Given the description of an element on the screen output the (x, y) to click on. 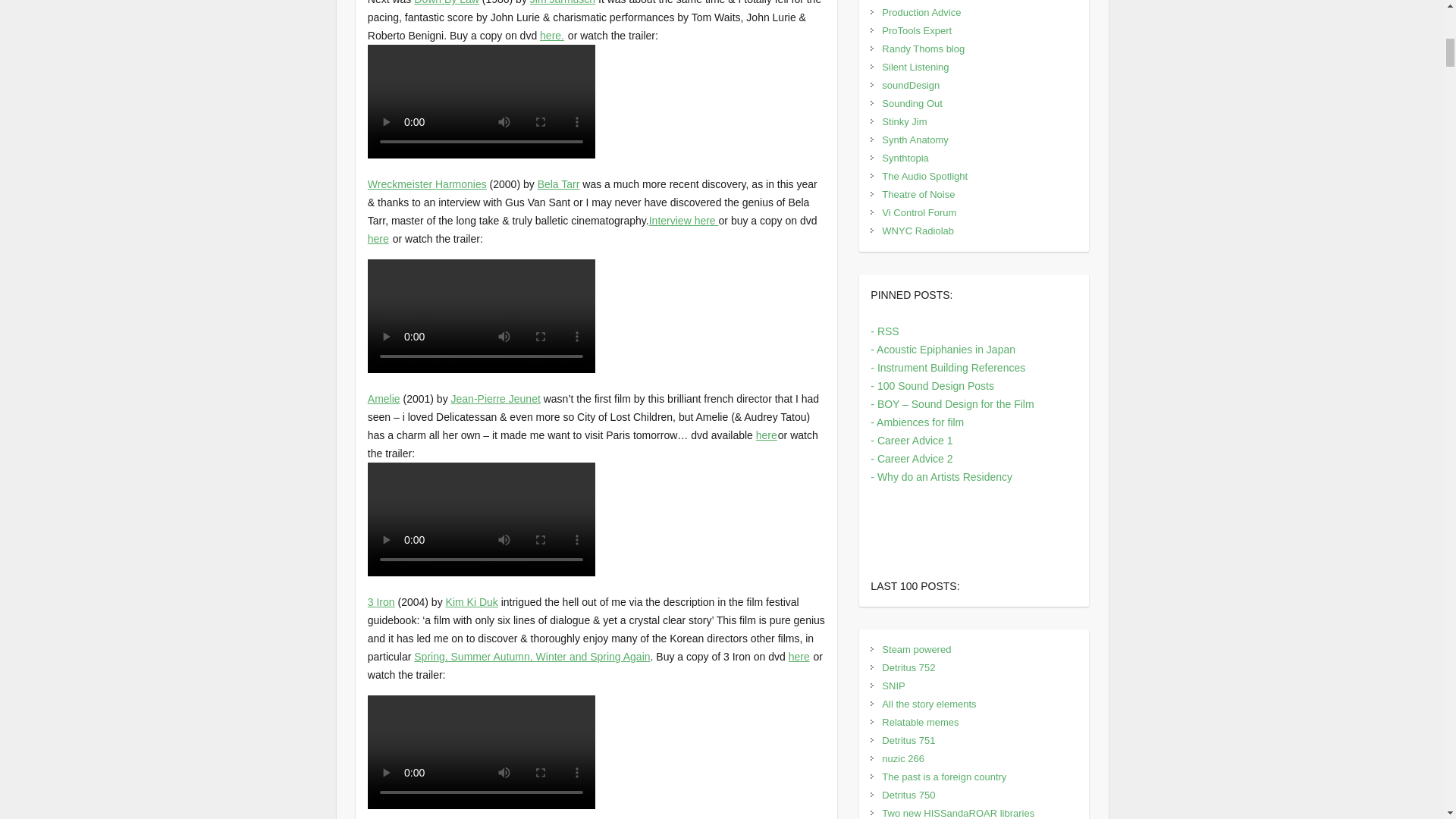
here. (552, 35)
Amelie (384, 398)
Jim Jarmusch (562, 2)
here (799, 656)
Wreckmeister Harmonies (427, 184)
Kim Ki Duk (471, 602)
Interview here (684, 220)
here (766, 435)
Jean-Pierre Jeunet (495, 398)
here (378, 238)
Bela Tarr (558, 184)
3 Iron (381, 602)
Down By Law (446, 2)
Spring, Summer Autumn, Winter and Spring Again (531, 656)
